Given the description of an element on the screen output the (x, y) to click on. 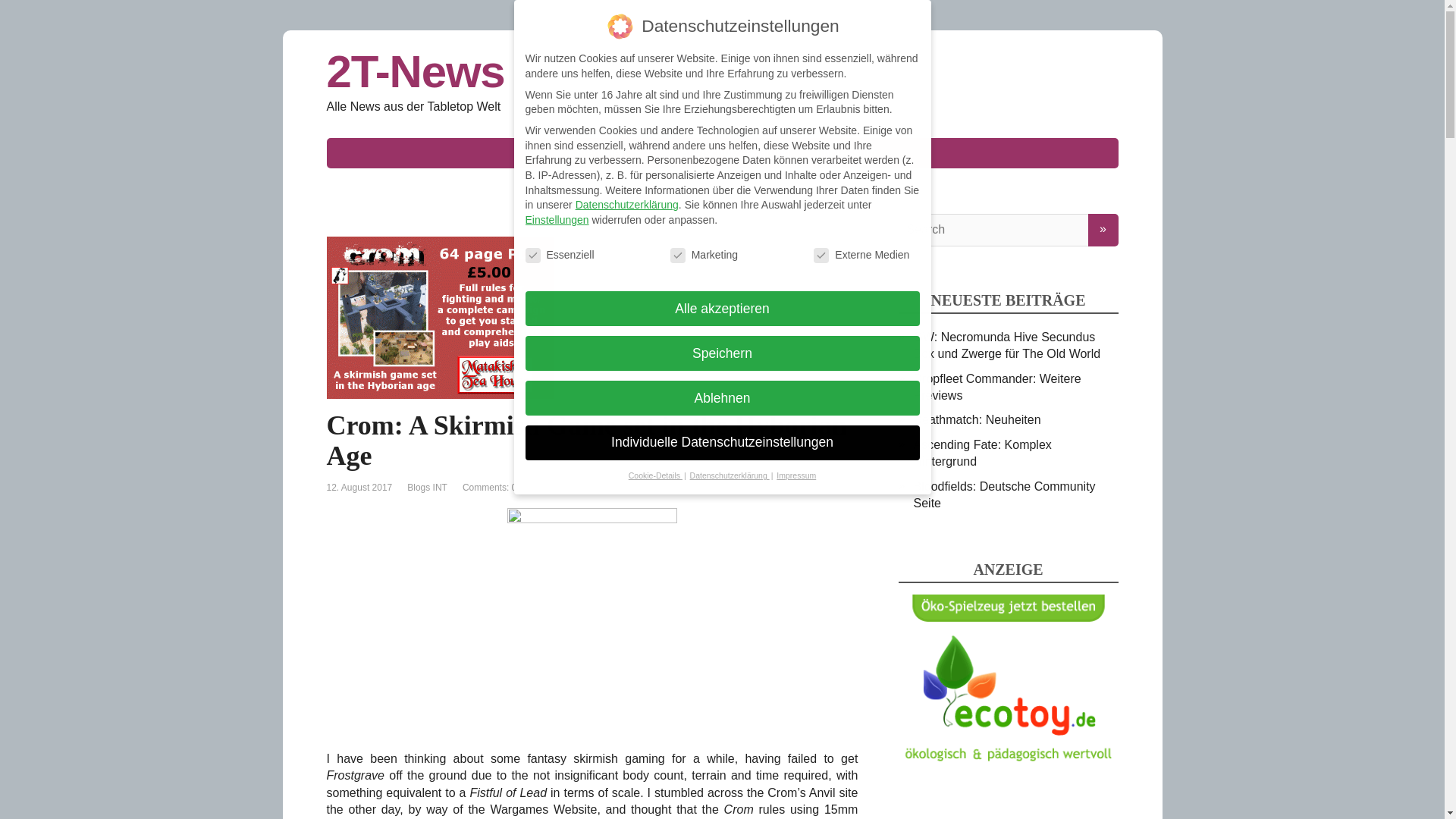
2T-News (722, 71)
Deathmatch: Neuheiten (976, 419)
Dropfleet Commander: Weitere Previews (996, 387)
Impressum (845, 153)
Bloodfields: Deutsche Community Seite (1003, 494)
Comments: 0 (489, 487)
Blogs INT (426, 487)
Kategorien (606, 153)
Ascending Fate: Komplex Hintergrund (981, 452)
